Given the description of an element on the screen output the (x, y) to click on. 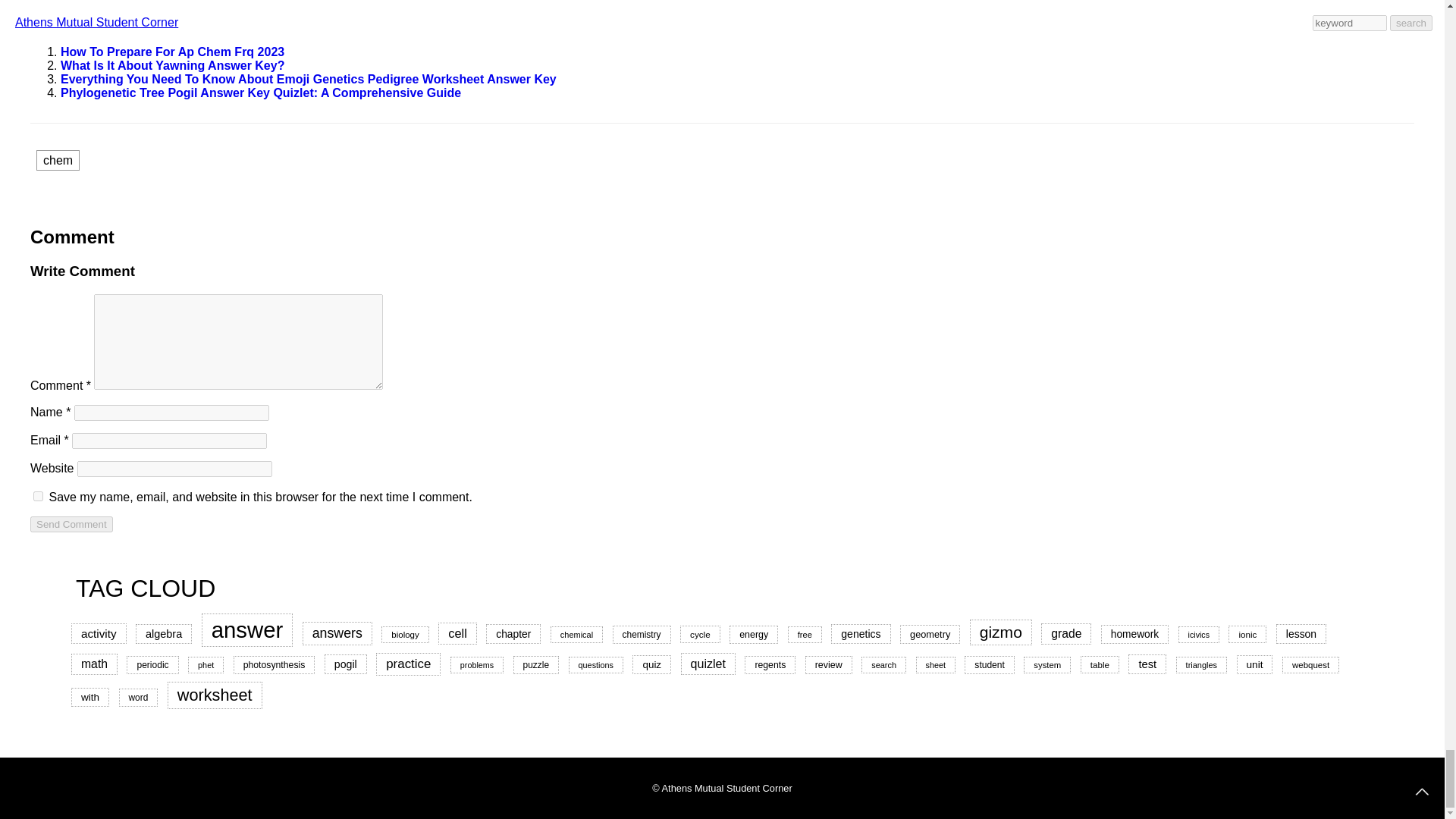
periodic (151, 665)
free (804, 634)
What Is It About Yawning Answer Key? (172, 65)
answer (248, 630)
How To Prepare For Ap Chem Frq 2023 (172, 51)
grade (1065, 633)
chem (58, 159)
biology (404, 634)
gizmo (1000, 632)
answers (337, 633)
How To Prepare For Ap Chem Frq 2023 (172, 51)
puzzle (536, 665)
questions (596, 664)
